Given the description of an element on the screen output the (x, y) to click on. 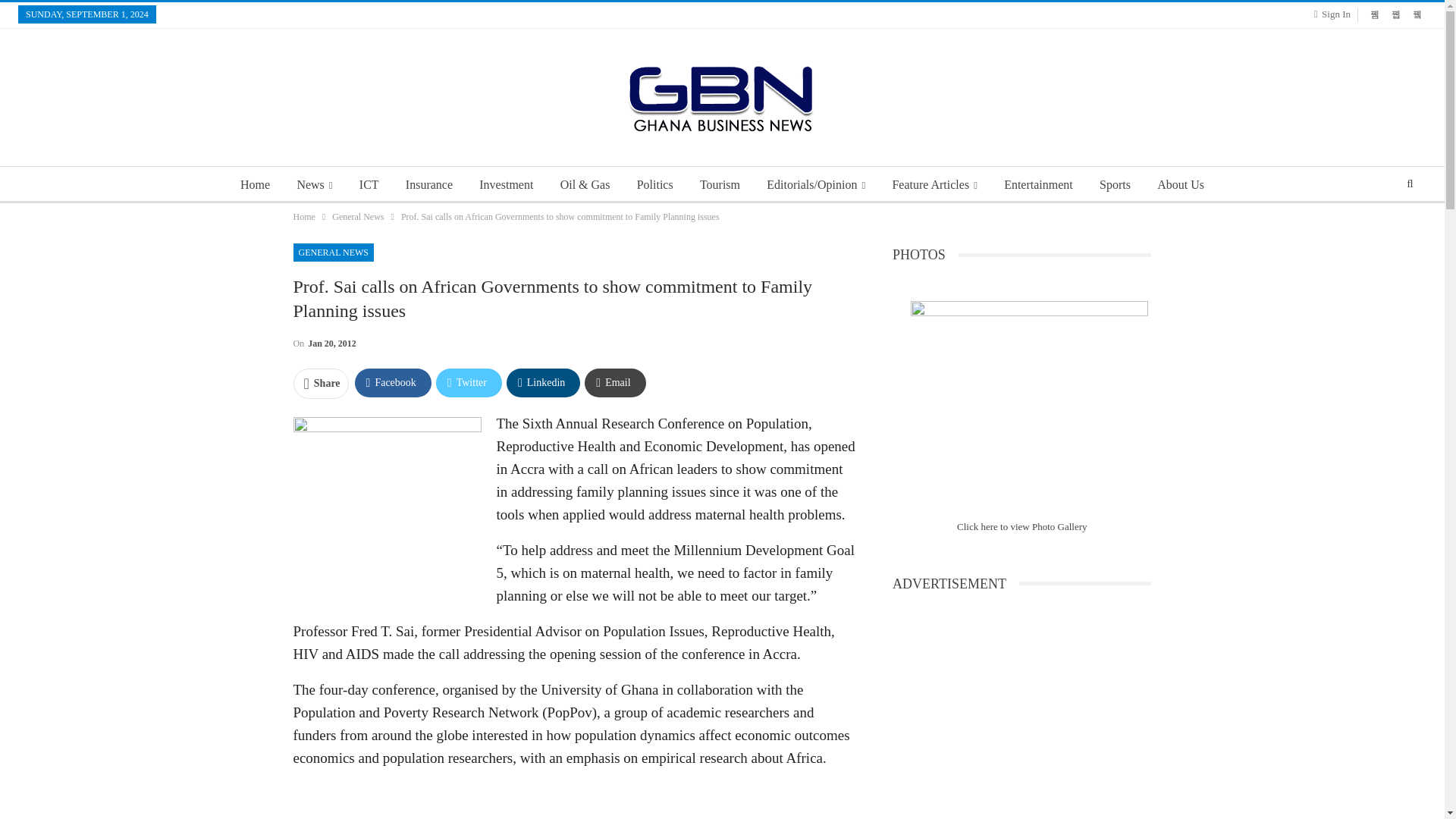
News (313, 185)
Tourism (719, 185)
Facebook (392, 382)
Entertainment (1037, 185)
Click here to view Photo Gallery (1021, 526)
Twitter (468, 382)
About Us (1180, 185)
Home (255, 185)
Politics (654, 185)
Pregnant Woman (386, 495)
